Given the description of an element on the screen output the (x, y) to click on. 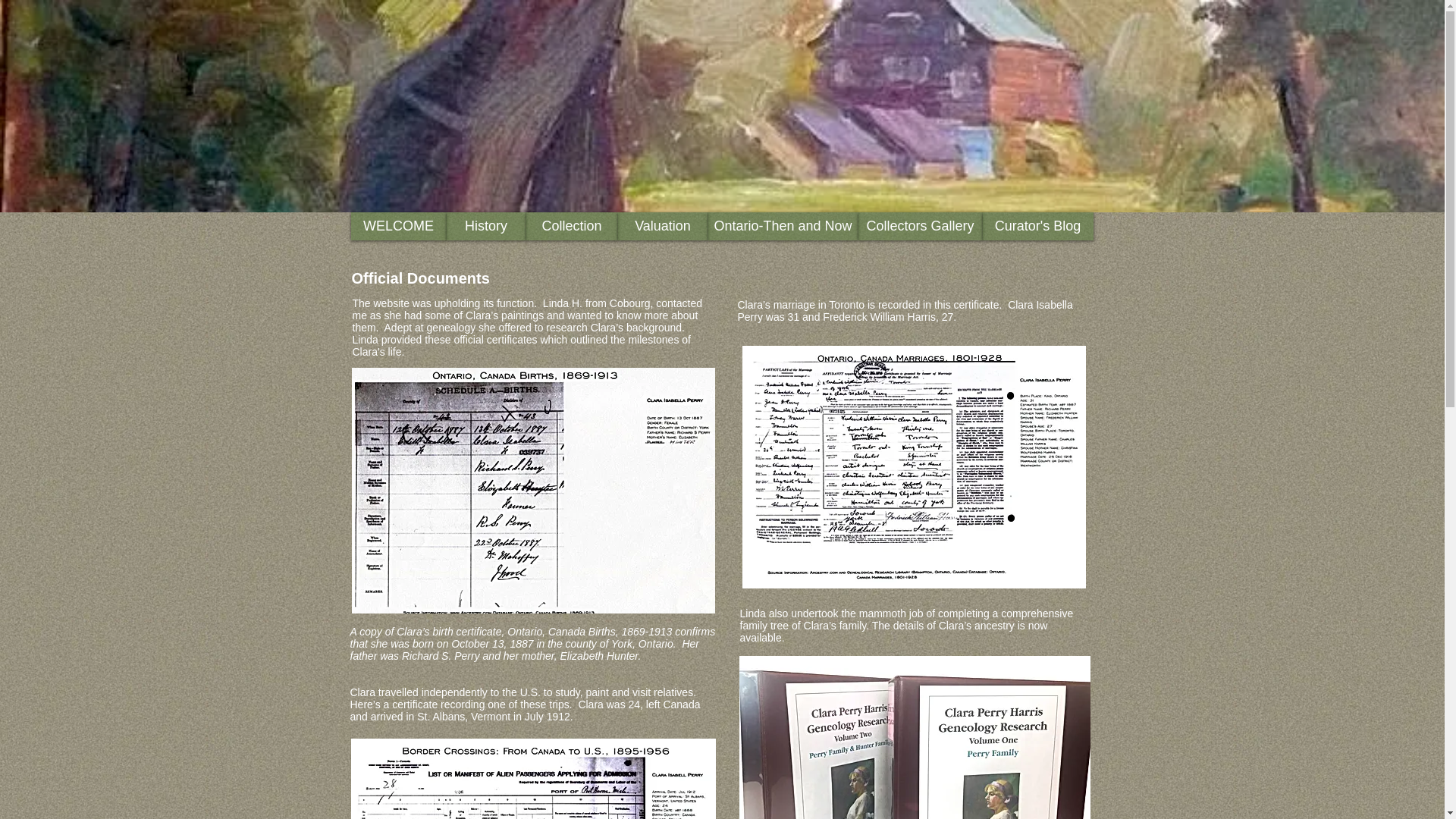
WELCOME (397, 226)
Curator's Blog (1037, 226)
